Given the description of an element on the screen output the (x, y) to click on. 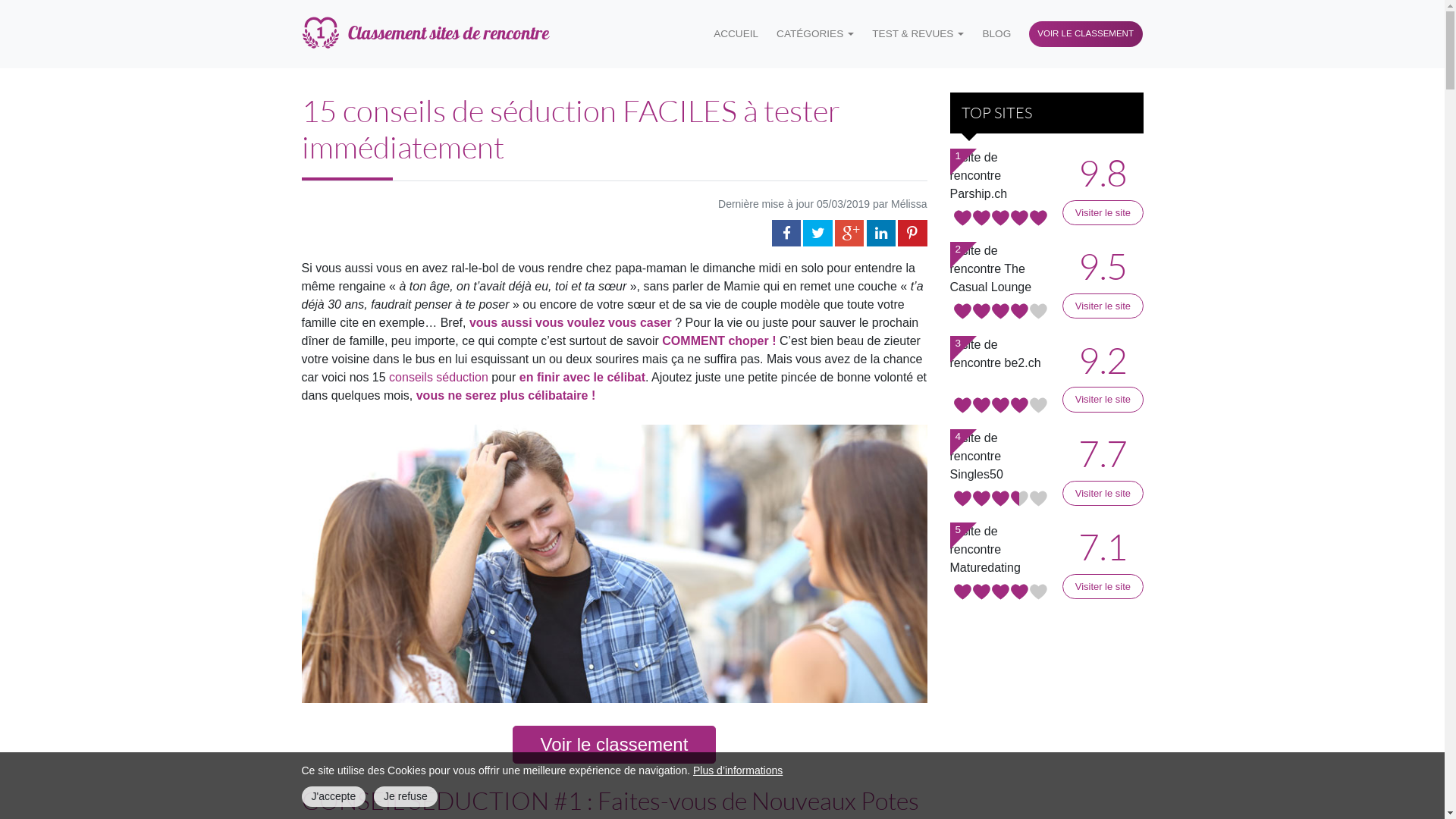
VOIR LE CLASSEMENT Element type: text (1085, 34)
Voir le classement Element type: text (614, 744)
TEST & REVUES Element type: text (917, 34)
Visiter le site Element type: text (1102, 305)
Classement sites de rencontre Element type: text (424, 33)
Visiter le site Element type: text (1102, 212)
Visiter le site Element type: text (1102, 492)
J'accepte Element type: text (333, 796)
BLOG Element type: text (995, 34)
Je refuse Element type: text (405, 796)
ACCUEIL Element type: text (735, 34)
Visiter le site Element type: text (1102, 586)
Visiter le site Element type: text (1102, 398)
